Given the description of an element on the screen output the (x, y) to click on. 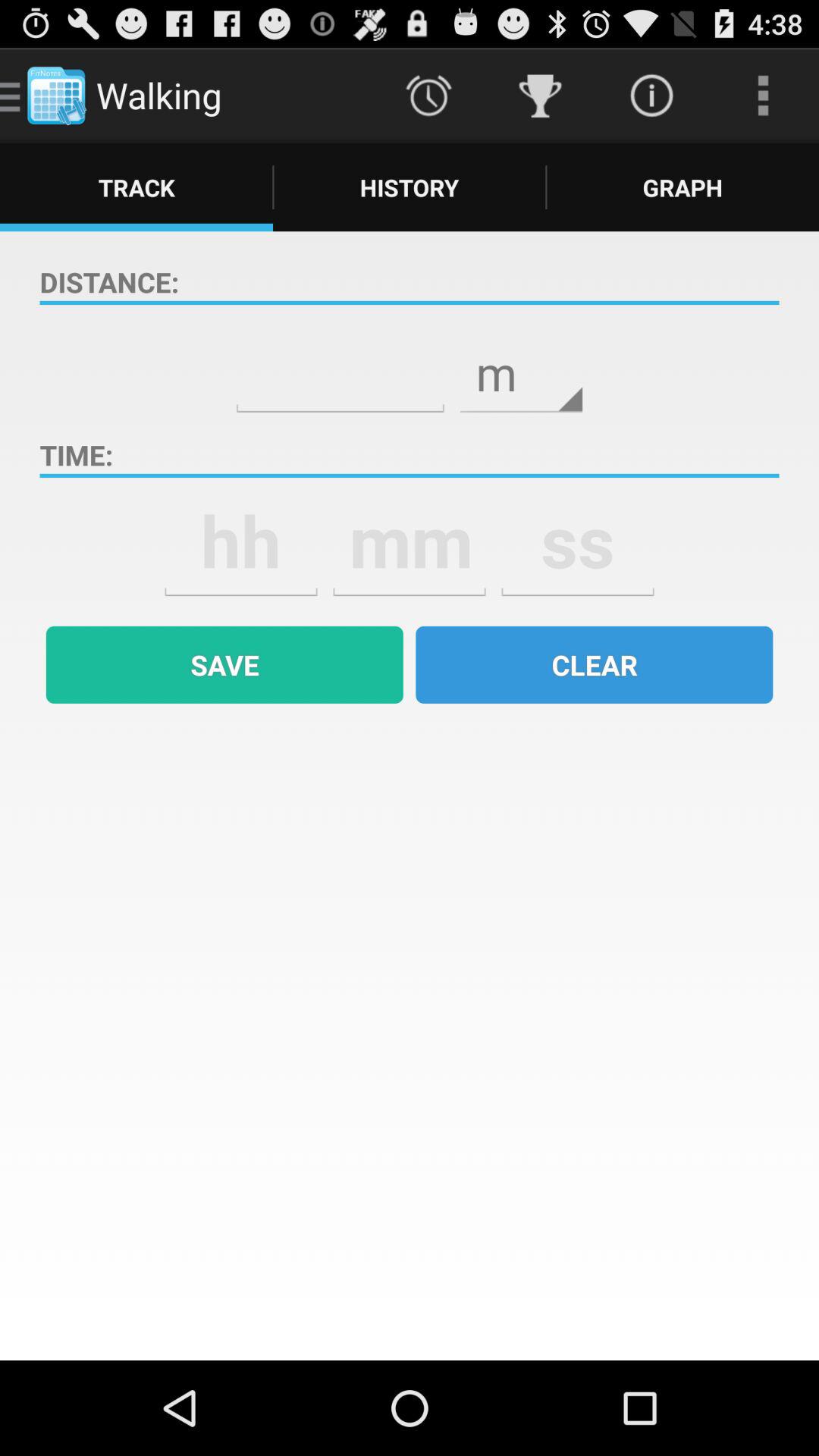
distance number (340, 362)
